Given the description of an element on the screen output the (x, y) to click on. 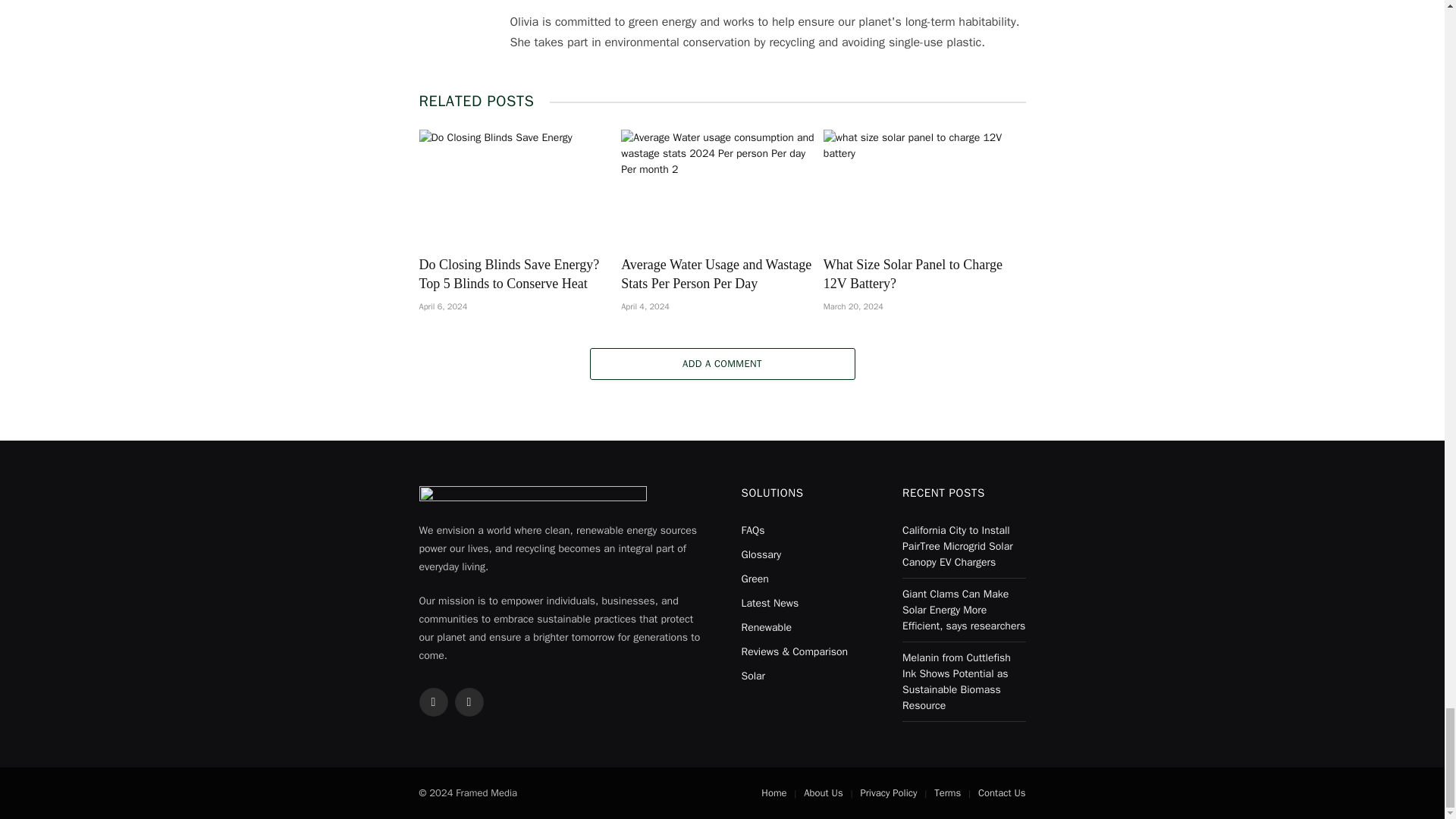
What Size Solar Panel to Charge 12V Battery? (925, 186)
Do Closing Blinds Save Energy? Top 5 Blinds to Conserve Heat (520, 186)
Posts by Olivia Bolt (537, 0)
Average Water Usage and Wastage Stats Per Person Per Day (722, 186)
